Given the description of an element on the screen output the (x, y) to click on. 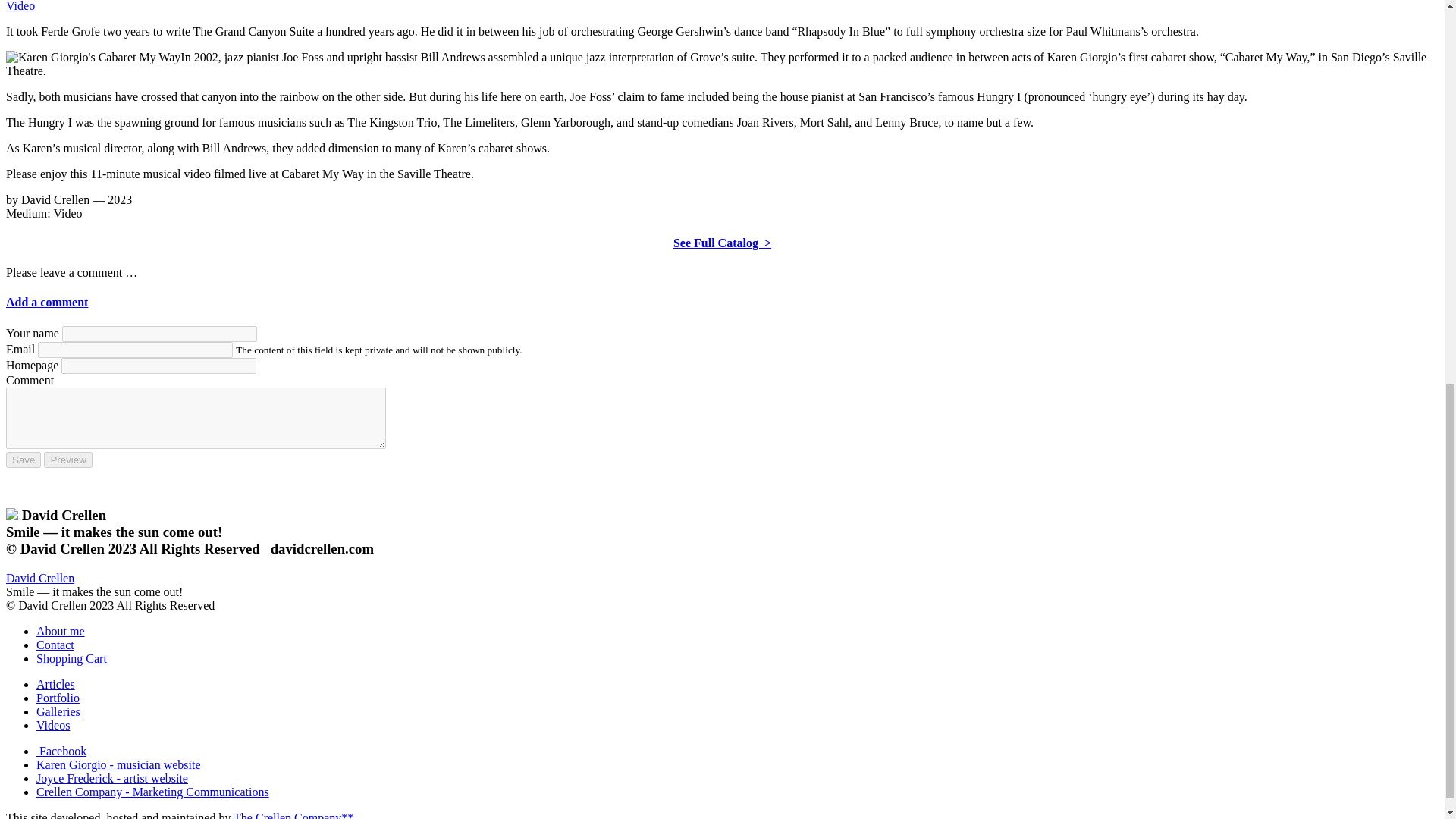
Crellen Company - Marketing Communications (152, 791)
About David Crellen (60, 631)
Portfolio (58, 697)
Contact (55, 644)
View David's open videos on Vimeo (52, 725)
Shopping Cart (71, 658)
David Crellen (39, 577)
Add a comment (46, 301)
About me (60, 631)
Save (22, 459)
View David's portfolio (58, 697)
Preview (67, 459)
Video (19, 6)
View David's open gallerise (58, 711)
Videos (52, 725)
